Given the description of an element on the screen output the (x, y) to click on. 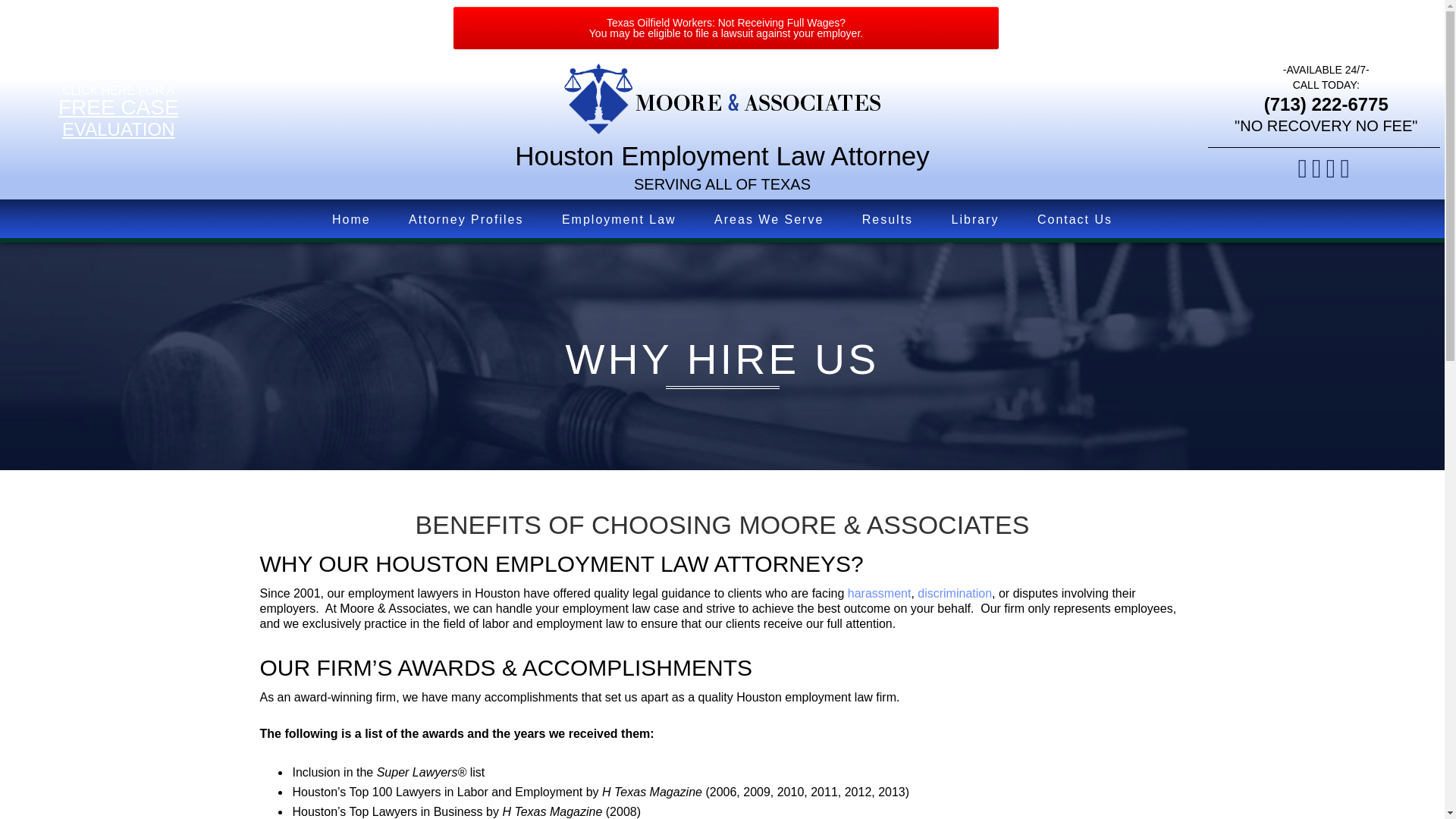
Home (351, 219)
Employment Law (118, 117)
CLICK HERE FOR A (465, 219)
